Given the description of an element on the screen output the (x, y) to click on. 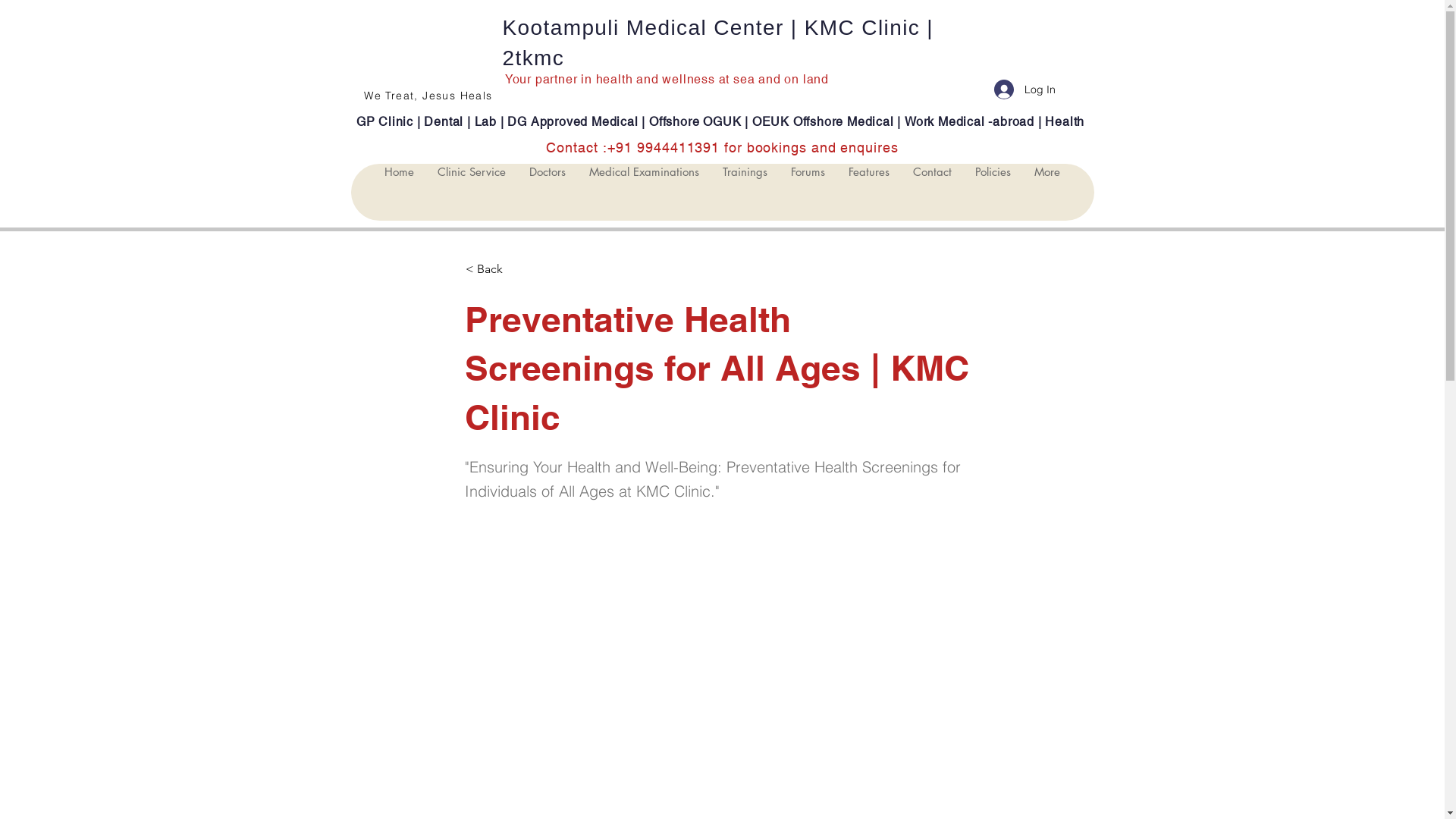
< Back Element type: text (515, 269)
We Treat, Jesus Heals Element type: text (428, 95)
Home Element type: text (399, 191)
Log In Element type: text (1023, 89)
